Given the description of an element on the screen output the (x, y) to click on. 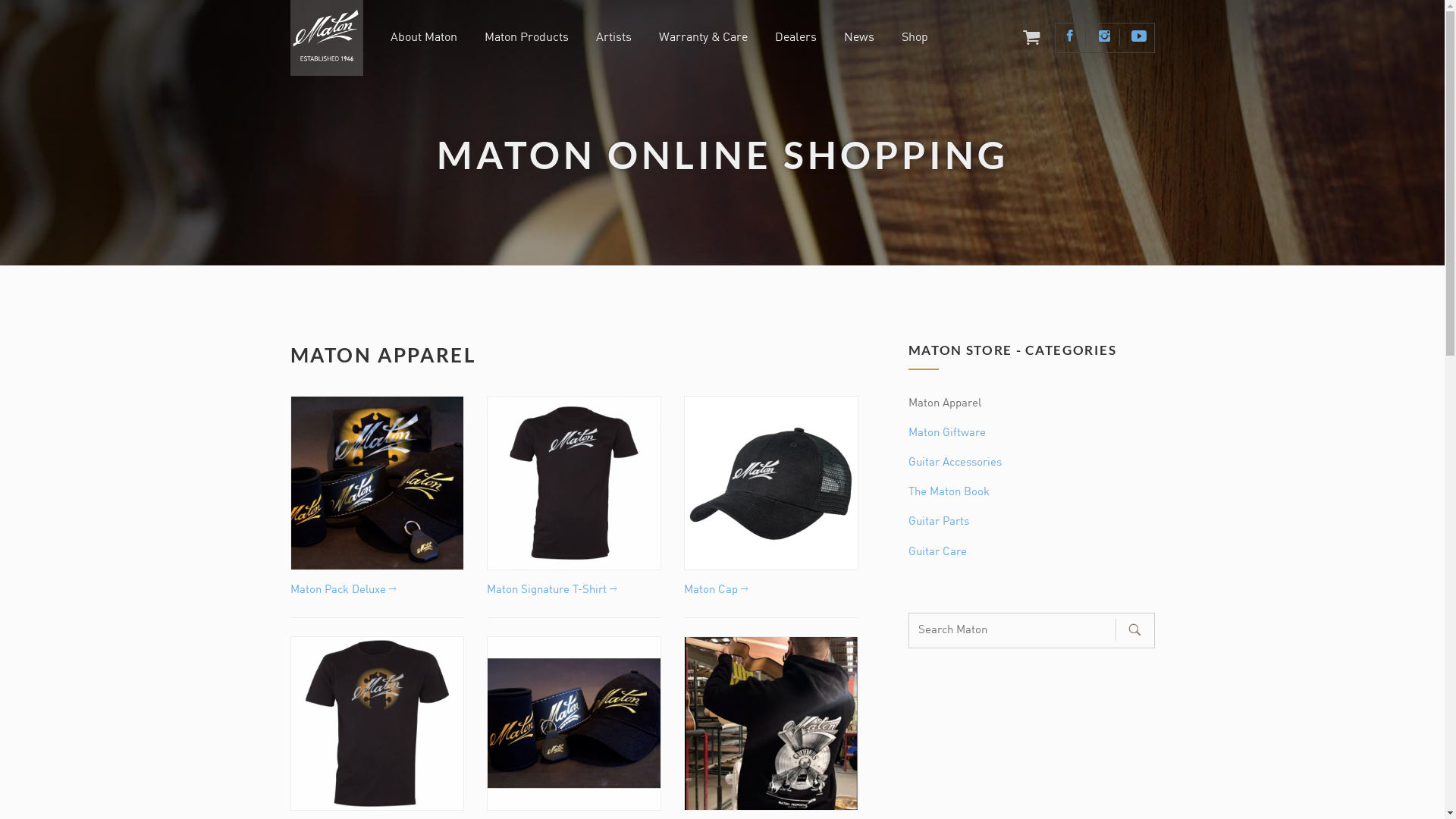
Maton Signature T-Shirt Element type: text (551, 589)
Dealers Element type: text (795, 39)
Maton Cap Element type: text (715, 589)
Guitar Accessories Element type: text (954, 462)
Maton Giftware Element type: text (946, 432)
The Maton Book Element type: text (948, 491)
Guitar Parts Element type: text (938, 521)
About Maton Element type: text (423, 39)
Maton Products Element type: text (526, 39)
Guitar Care Element type: text (937, 551)
Warranty & Care Element type: text (702, 39)
News Element type: text (859, 39)
Shop Element type: text (914, 39)
Maton Pack Deluxe Element type: text (342, 589)
Artists Element type: text (613, 39)
